Given the description of an element on the screen output the (x, y) to click on. 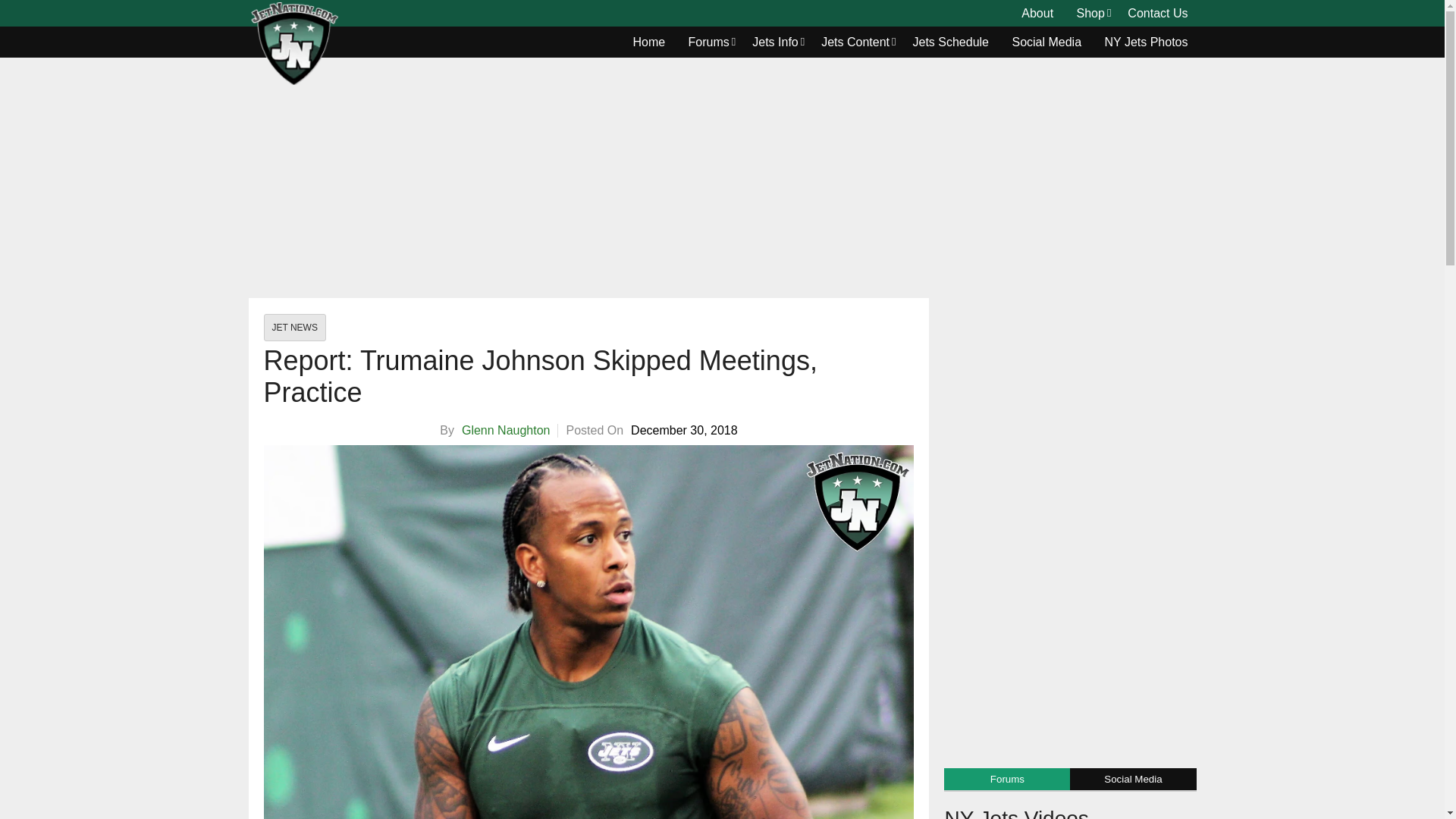
Glenn Naughton (505, 430)
Social Media (1046, 41)
Home (649, 41)
Jets Content (855, 41)
NY Jets Photos (1146, 41)
Jets Info (775, 41)
Shop (1090, 13)
Jets Schedule (950, 41)
Forums (709, 41)
2018-12-30 (684, 430)
About (1037, 13)
NY Jets Social Media (1046, 41)
Contact Us (1157, 13)
JET NEWS (294, 327)
